Given the description of an element on the screen output the (x, y) to click on. 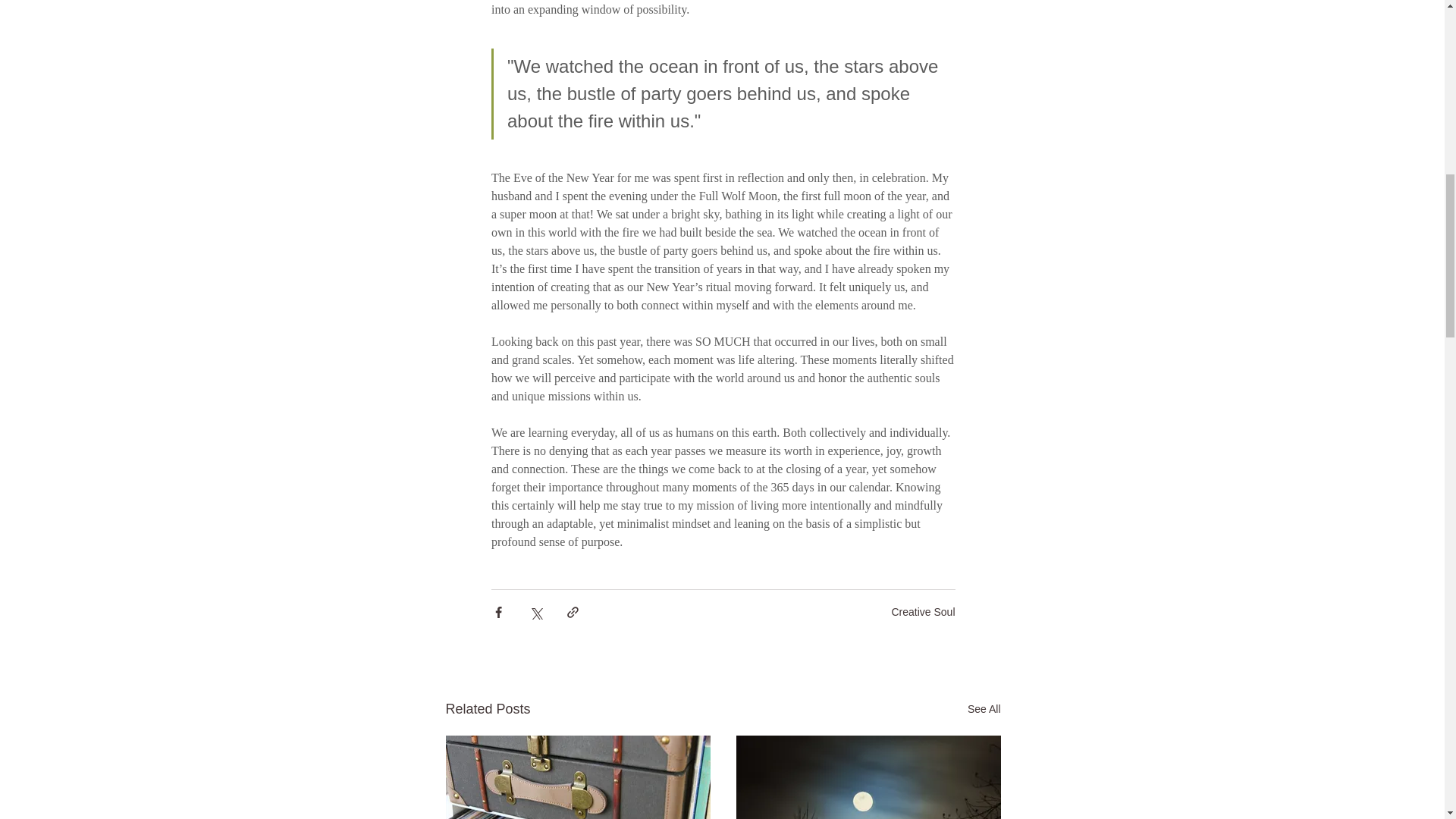
See All (984, 709)
Creative Soul (923, 612)
